Given the description of an element on the screen output the (x, y) to click on. 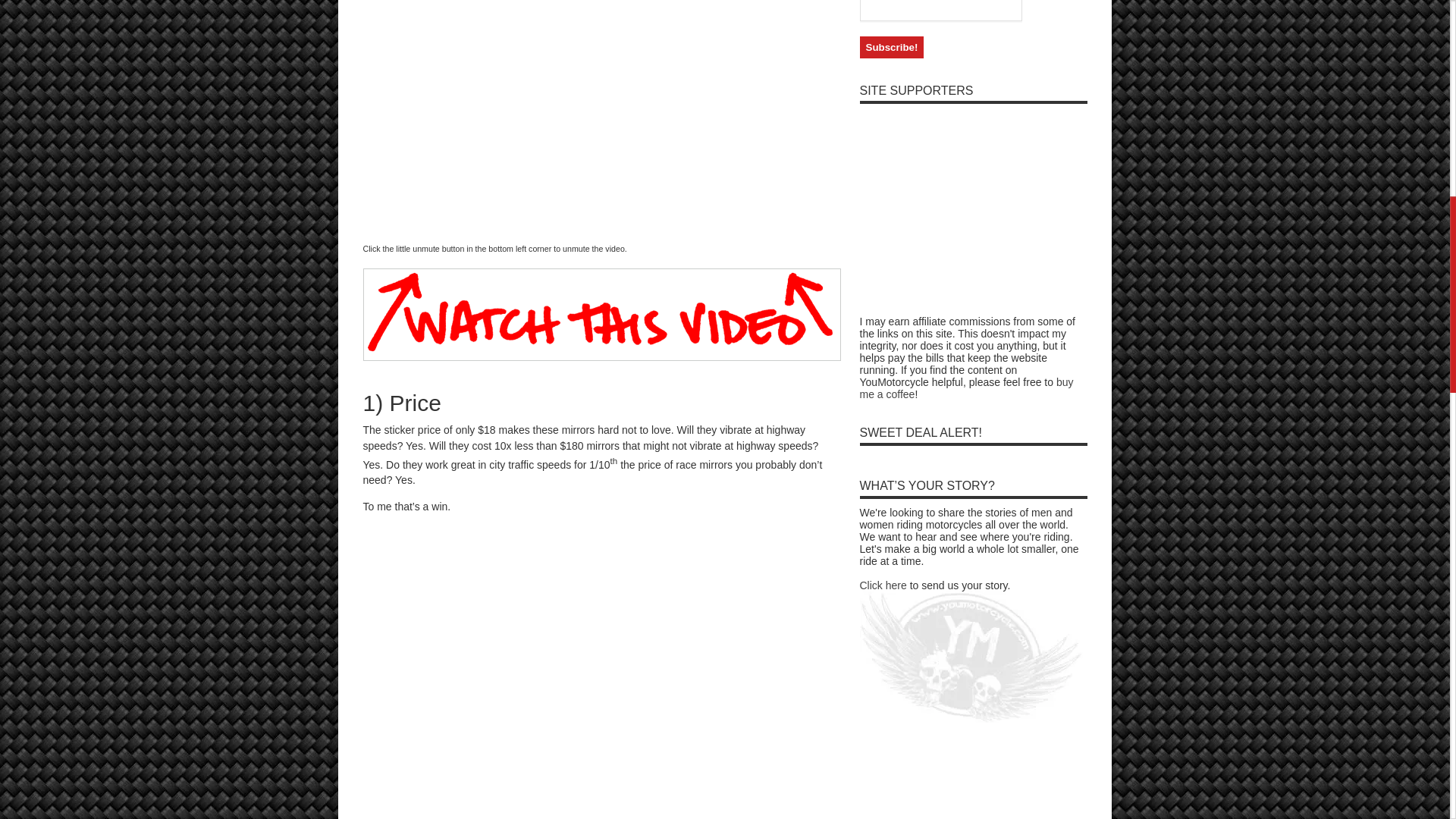
Scroll To Top (1427, 60)
Did something on this site help you? Please buy me a coffee! (967, 387)
Email (941, 10)
Subscribe! (892, 47)
